Given the description of an element on the screen output the (x, y) to click on. 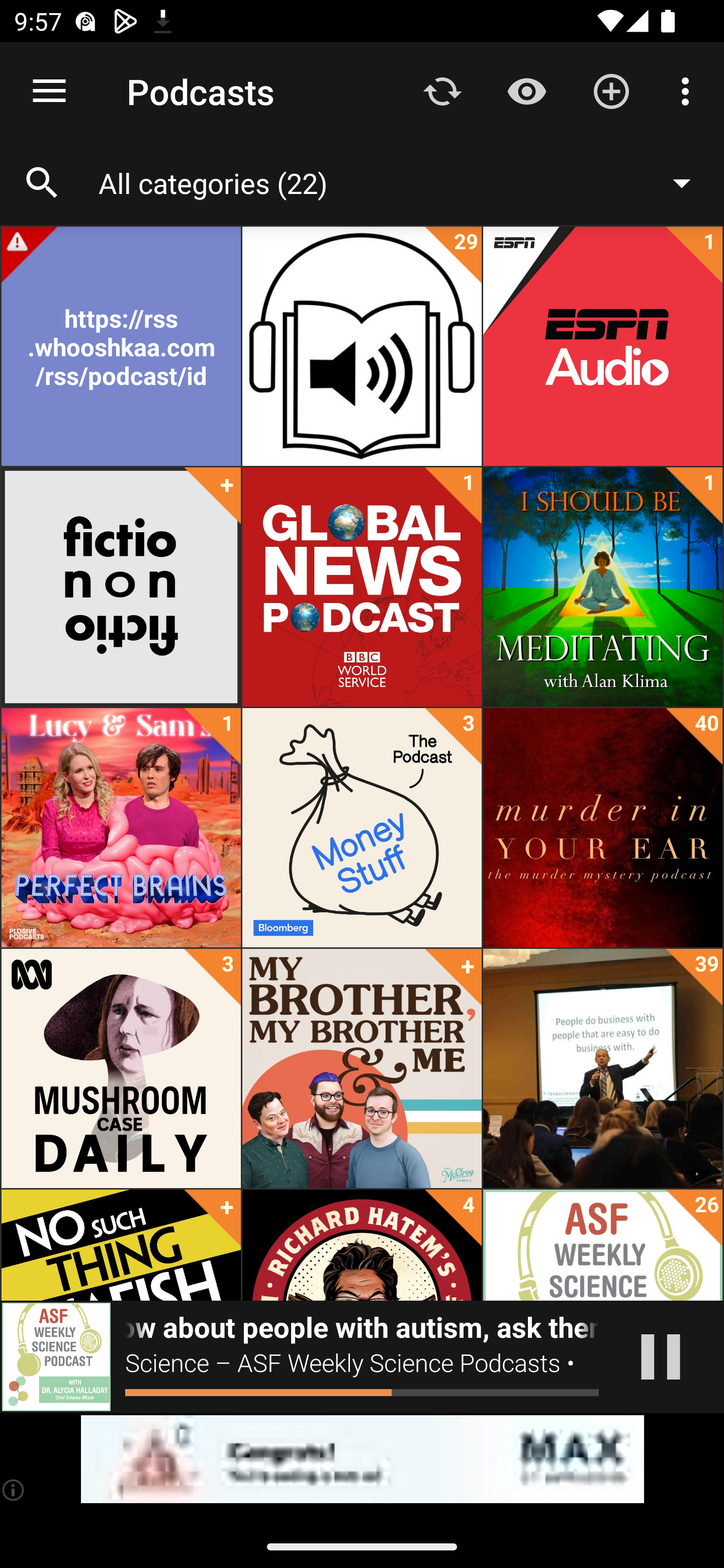
Open navigation sidebar (49, 91)
Update (442, 90)
Show / Hide played content (526, 90)
Add new Podcast (611, 90)
More options (688, 90)
Search (42, 183)
All categories (22) (404, 182)
https://rss.whooshkaa.com/rss/podcast/id/5884 (121, 346)
Audiobooks 29 (361, 346)
ESPN Audio 1 (602, 346)
fiction/non/fiction + (121, 587)
Global News Podcast 1 (361, 587)
Lucy & Sam's Perfect Brains 1 (121, 827)
Money Stuff: The Podcast 3 (361, 827)
Murder In Your Ear-The Murder Mystery Podcast 40 (602, 827)
Mushroom Case Daily 3 (121, 1068)
My Brother, My Brother And Me + (361, 1068)
Play / Pause (660, 1356)
app-monetization (362, 1459)
(i) (14, 1489)
